Given the description of an element on the screen output the (x, y) to click on. 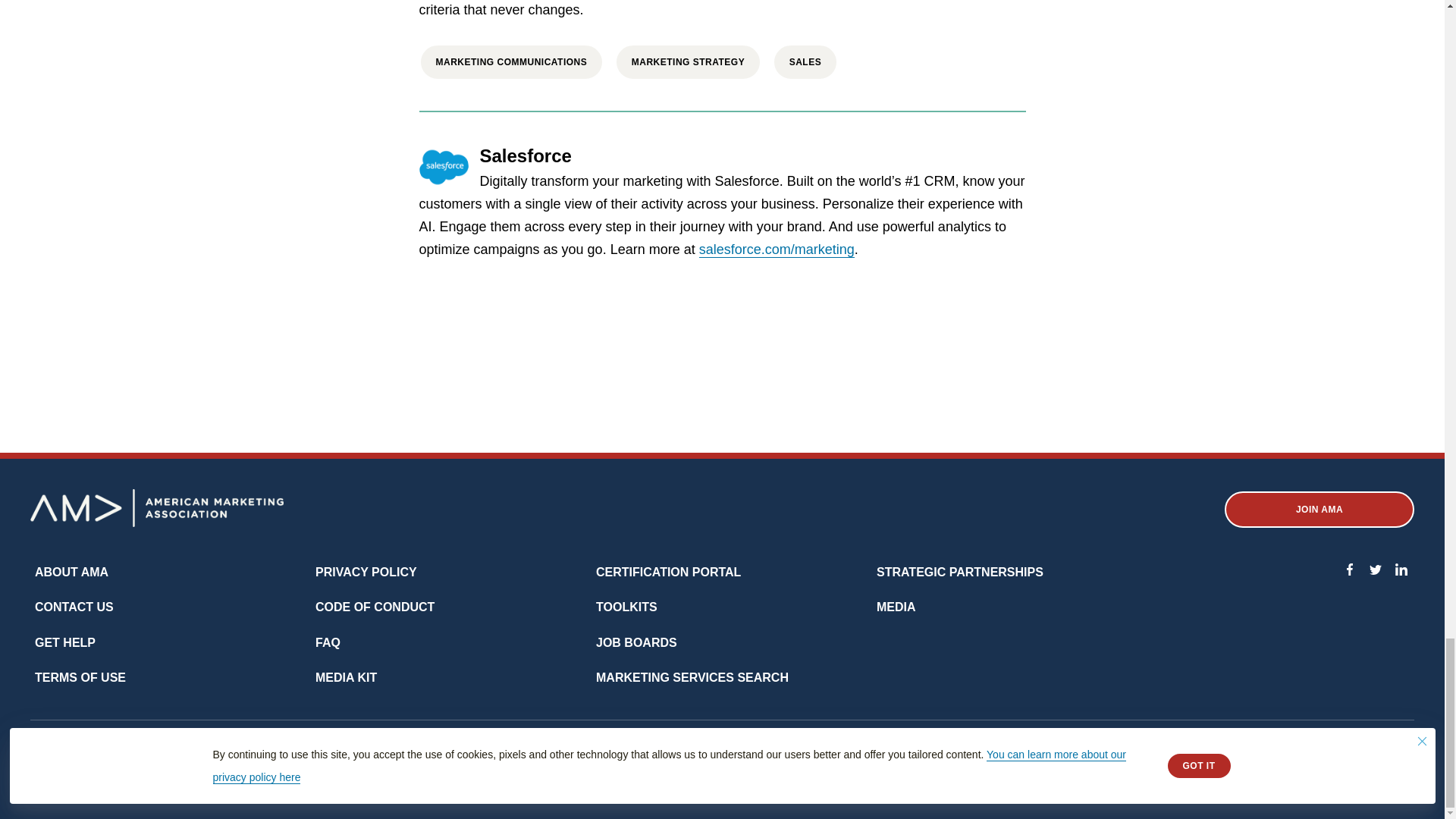
MARKETING STRATEGY (687, 62)
MARKETING COMMUNICATIONS (510, 62)
Salesforce (524, 157)
SALES (805, 62)
